Given the description of an element on the screen output the (x, y) to click on. 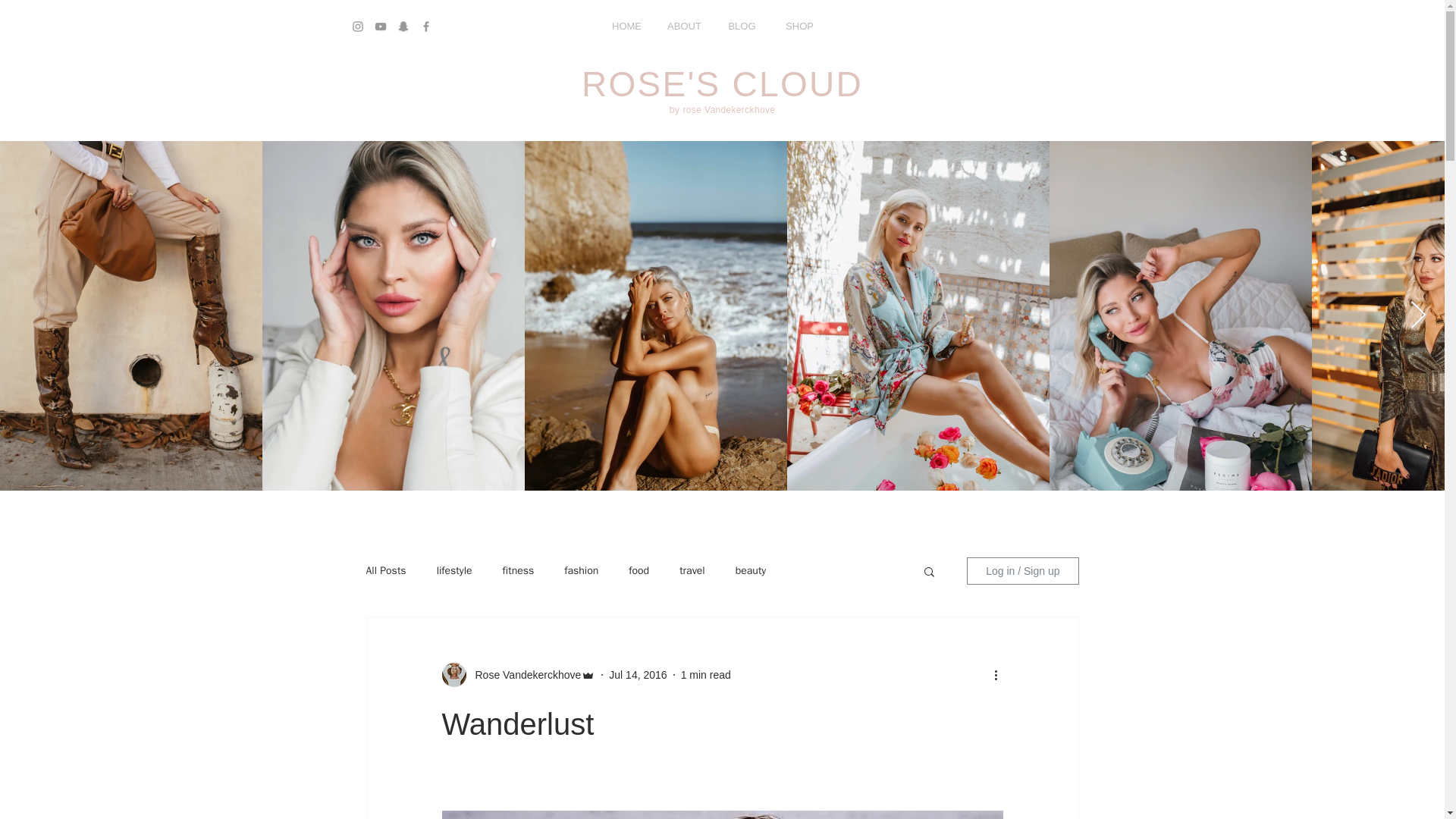
1 min read (705, 674)
travel (691, 571)
HOME (625, 26)
fitness (518, 571)
beauty (751, 571)
SHOP (799, 26)
ABOUT (684, 26)
lifestyle (453, 571)
Jul 14, 2016 (637, 674)
food (638, 571)
